Given the description of an element on the screen output the (x, y) to click on. 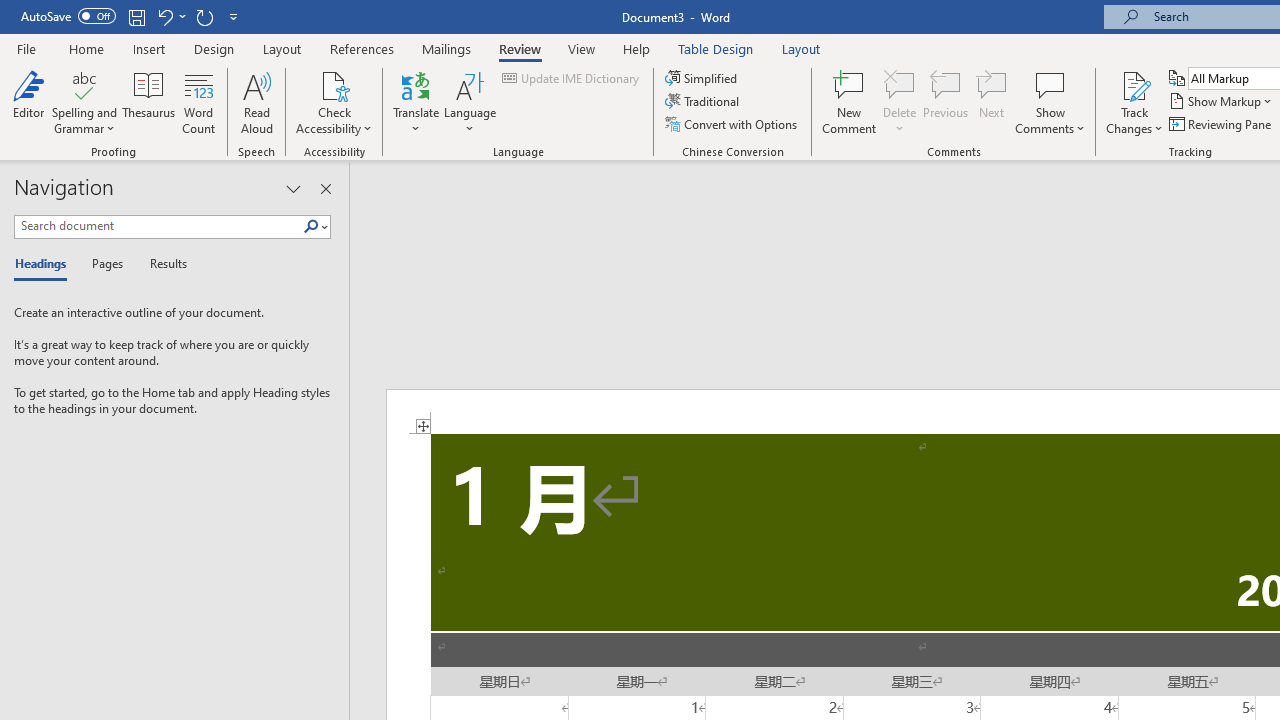
Word Count (198, 102)
Show Comments (1050, 102)
Show Comments (1050, 84)
Read Aloud (256, 102)
Previous (946, 102)
